Given the description of an element on the screen output the (x, y) to click on. 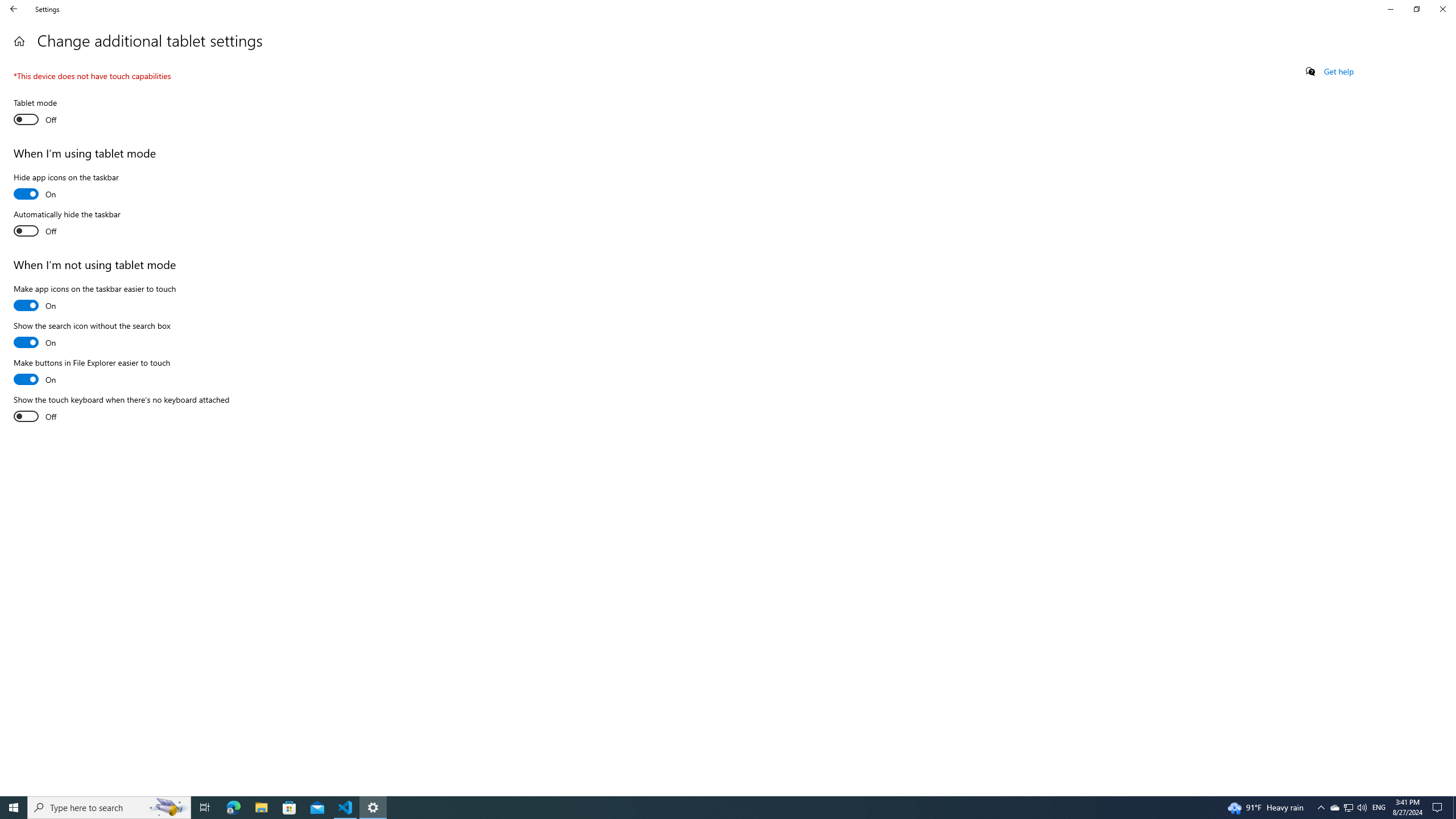
Make app icons on the taskbar easier to touch (94, 298)
Show the search icon without the search box (91, 335)
Get help (1338, 71)
Back (13, 9)
Running applications (706, 807)
